Given the description of an element on the screen output the (x, y) to click on. 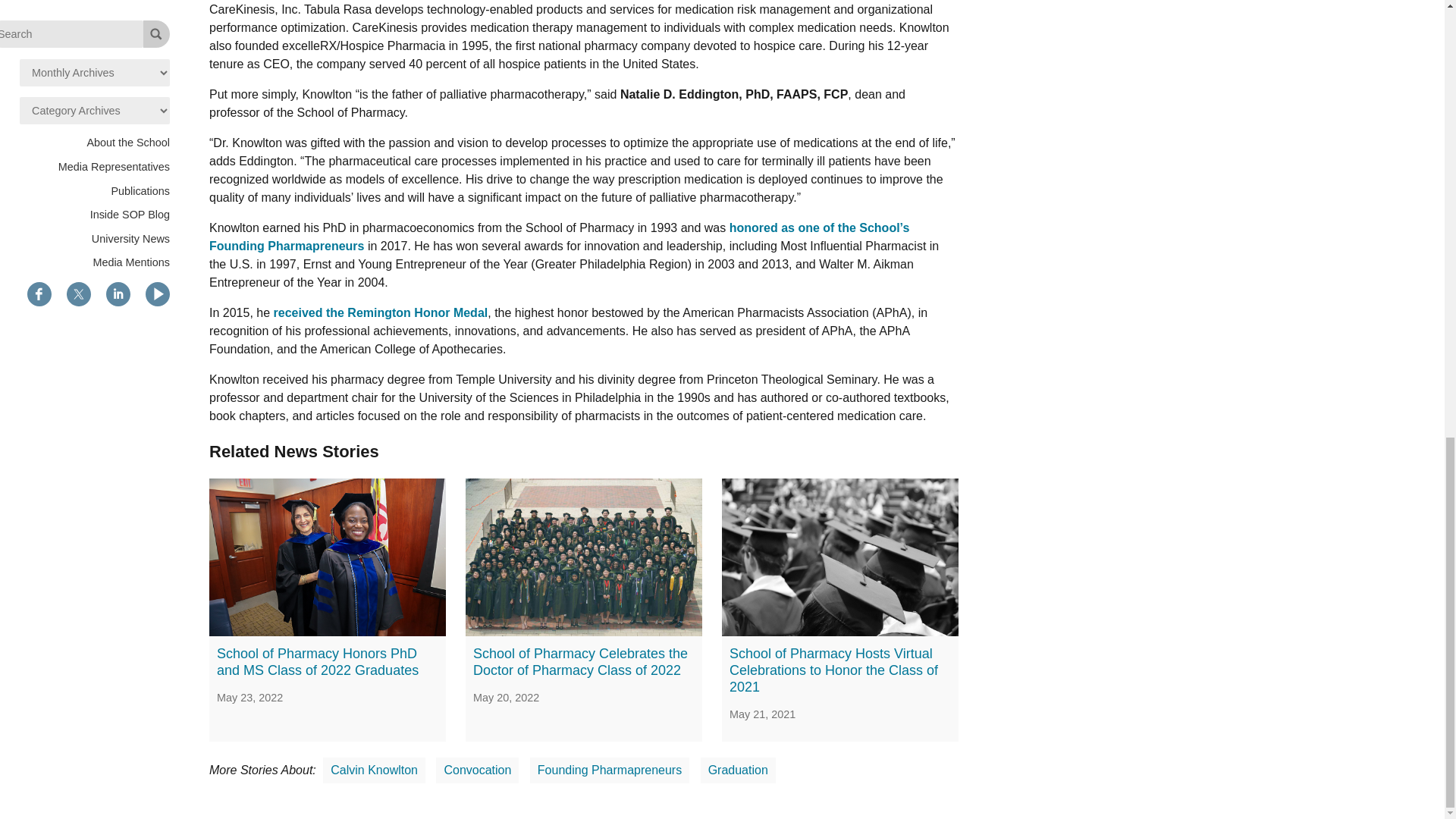
Calvin Knowlton (374, 769)
Founding Pharmapreneurs (608, 769)
received the Remington Honor Medal (380, 312)
Convocation (476, 769)
Graduation (738, 769)
School of Pharmacy Honors PhD and MS Class of 2022 Graduates (317, 662)
